Given the description of an element on the screen output the (x, y) to click on. 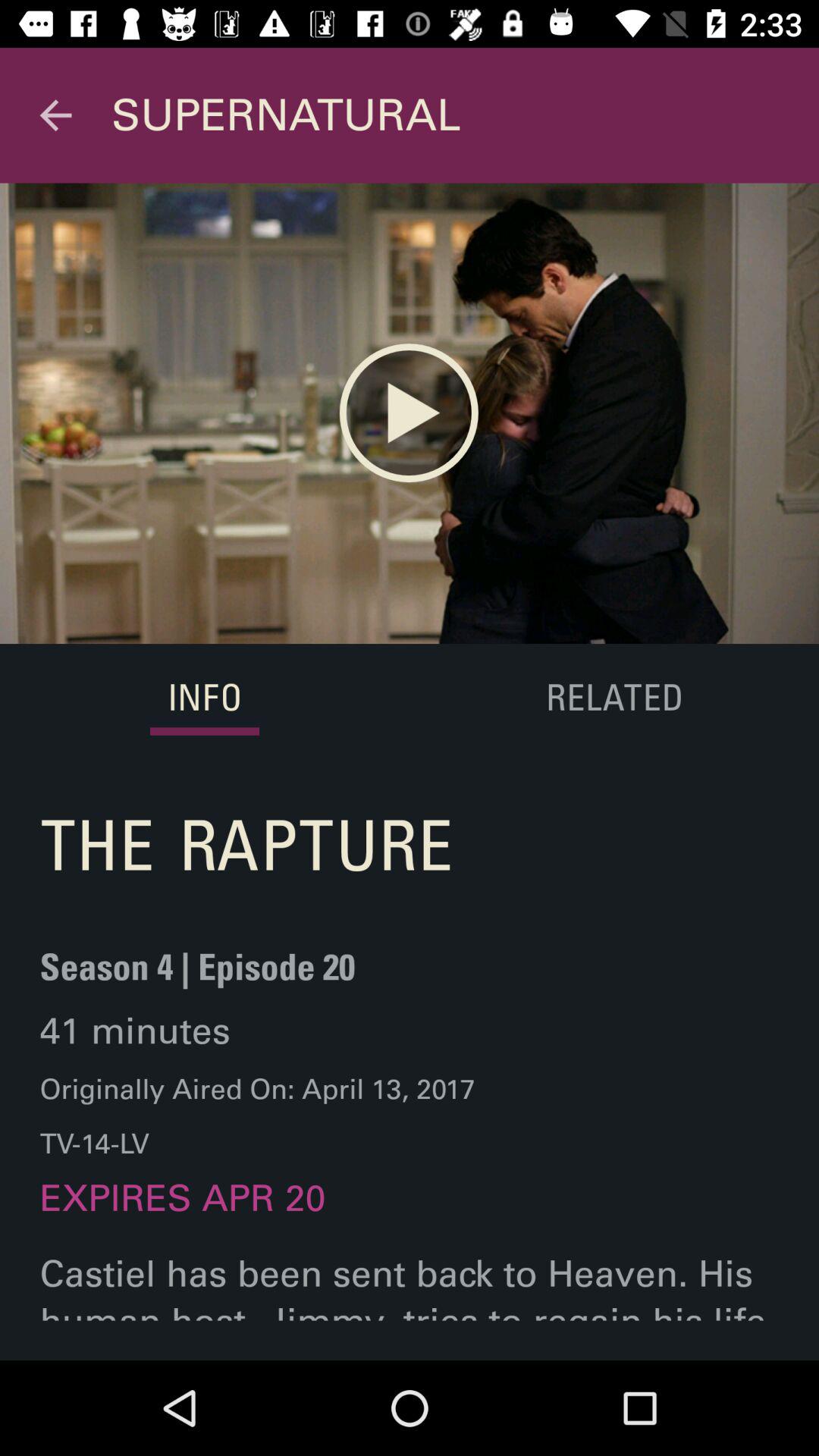
select 41 minutes icon (134, 1030)
